Given the description of an element on the screen output the (x, y) to click on. 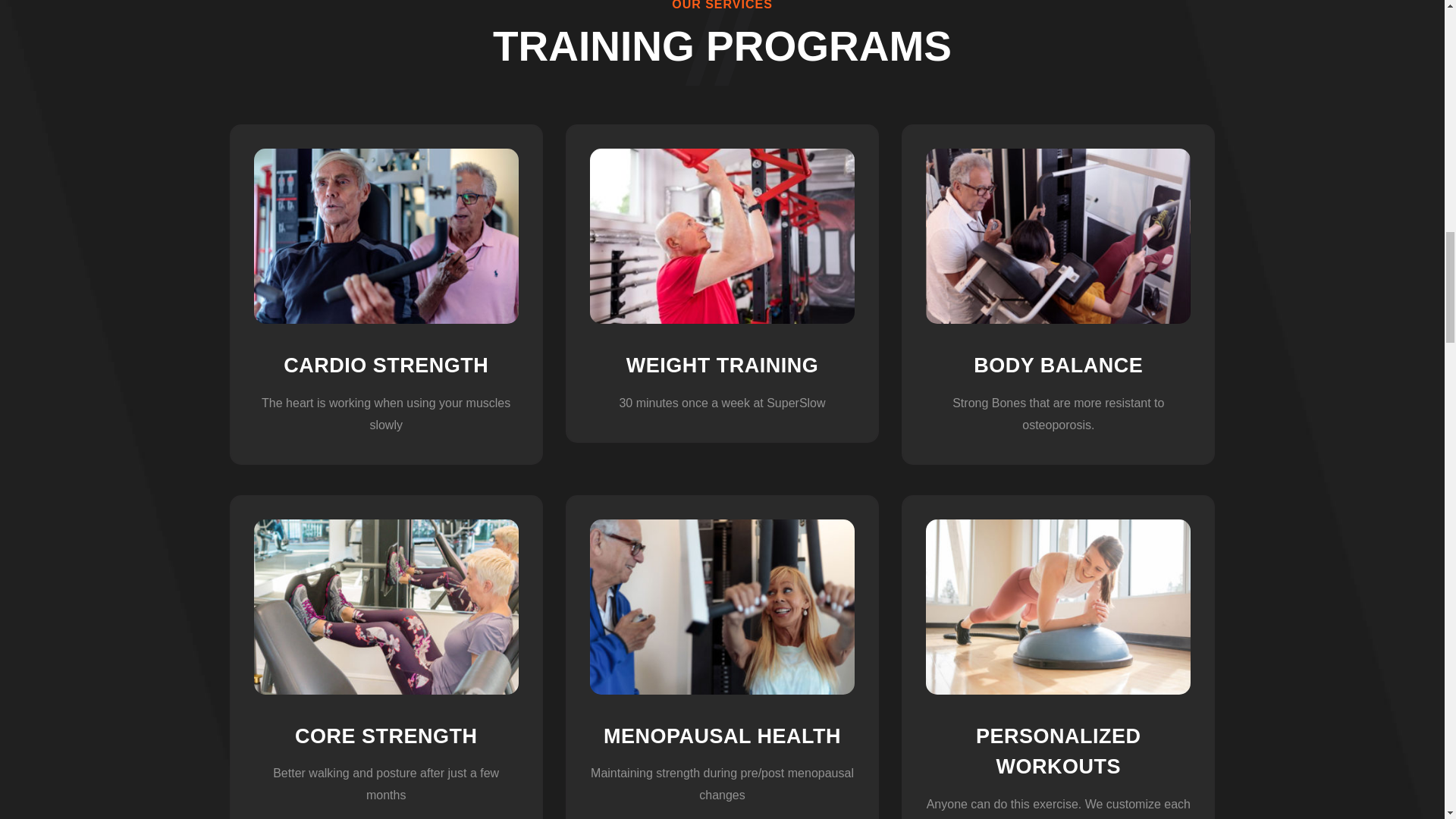
muscle (385, 606)
man-at-gym-min (721, 235)
7 (1058, 235)
9 (721, 606)
5 (385, 235)
plak (1058, 606)
